Given the description of an element on the screen output the (x, y) to click on. 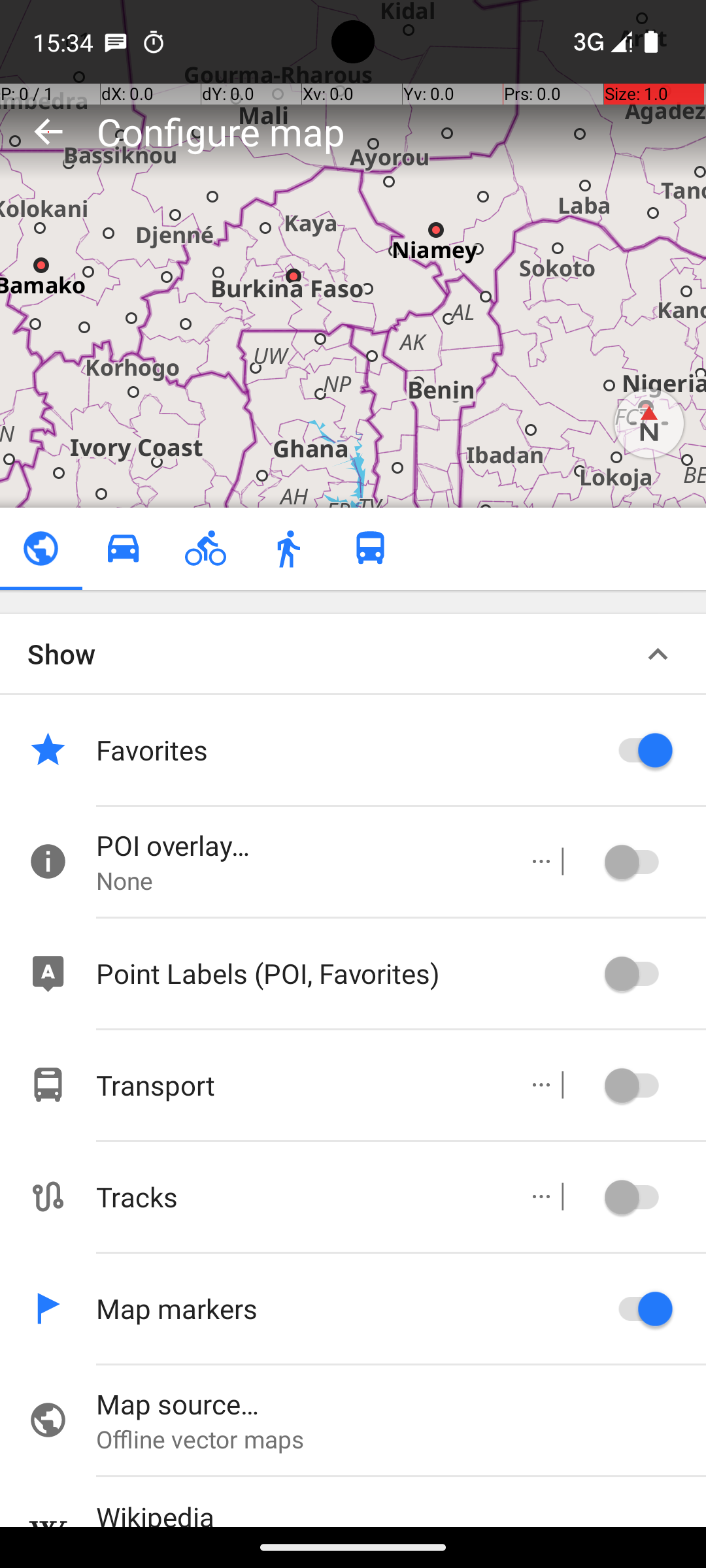
Browse map checked Element type: android.widget.ImageView (40, 548)
